Given the description of an element on the screen output the (x, y) to click on. 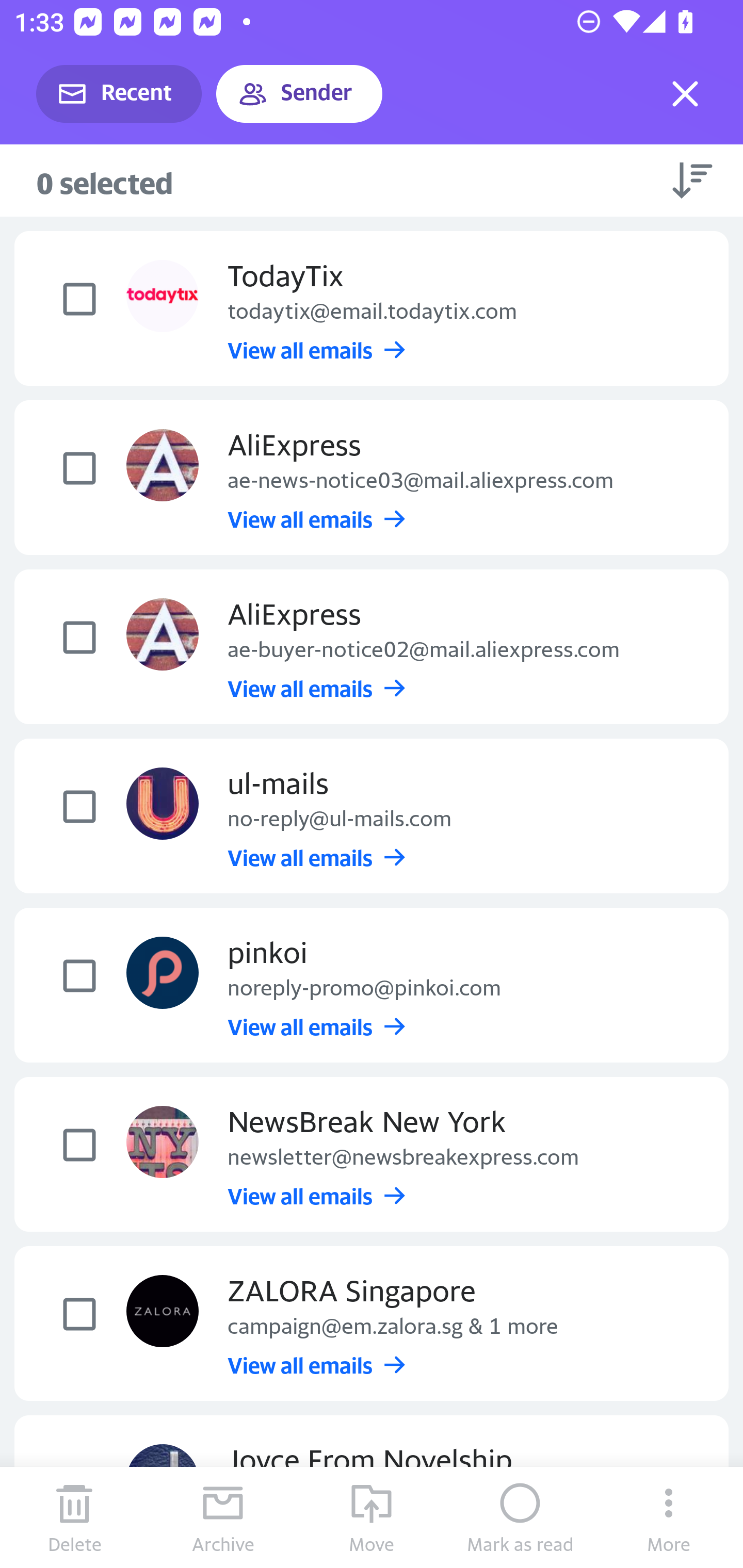
Recent (119, 93)
Exit selection mode (684, 93)
Sort (692, 180)
ul-mails no-reply@ul-mails.com View all emails (371, 815)
pinkoi noreply-promo@pinkoi.com View all emails (371, 985)
Delete (74, 1517)
Archive (222, 1517)
Move (371, 1517)
Mark as read (519, 1517)
More (668, 1517)
